Given the description of an element on the screen output the (x, y) to click on. 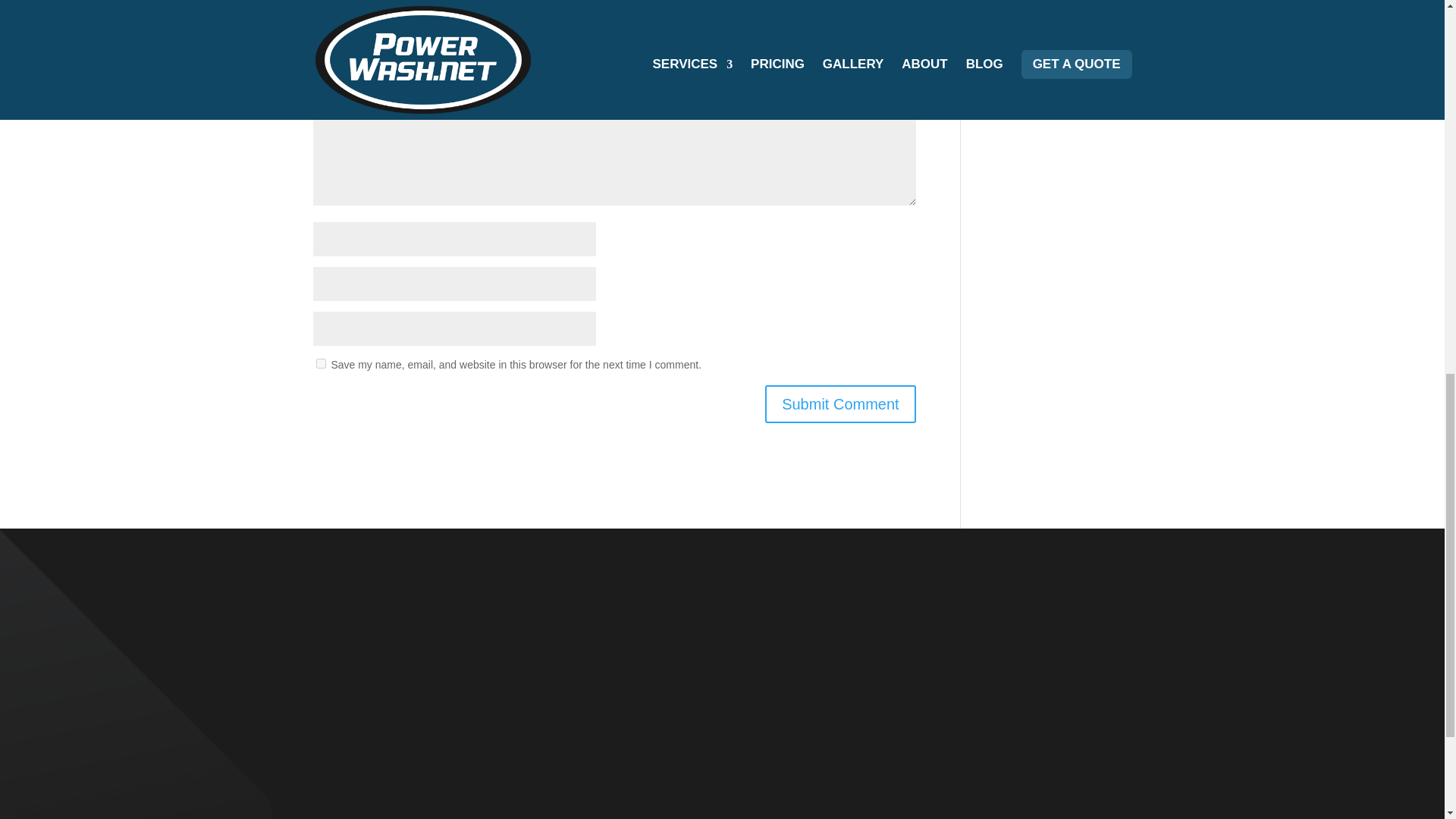
yes (319, 363)
Submit Comment (840, 403)
Submit Comment (840, 403)
